Given the description of an element on the screen output the (x, y) to click on. 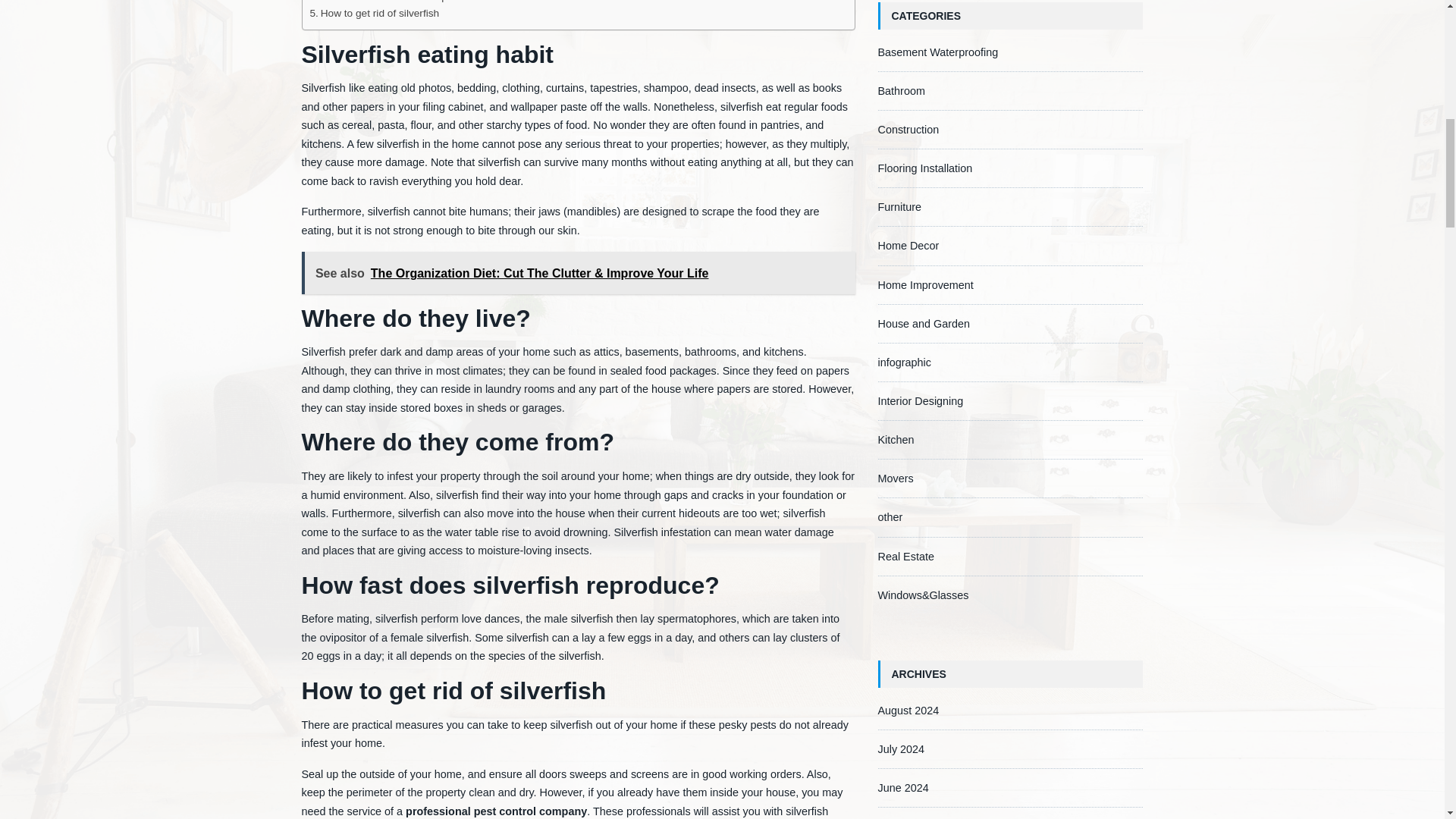
How fast does silverfish reproduce? (396, 2)
Flooring Installation (924, 168)
Home Decor (908, 245)
Basement Waterproofing (937, 51)
professional pest control company (496, 811)
How to get rid of silverfish (373, 13)
Bathroom (900, 91)
Furniture (899, 206)
How fast does silverfish reproduce? (396, 2)
Construction (908, 129)
